Given the description of an element on the screen output the (x, y) to click on. 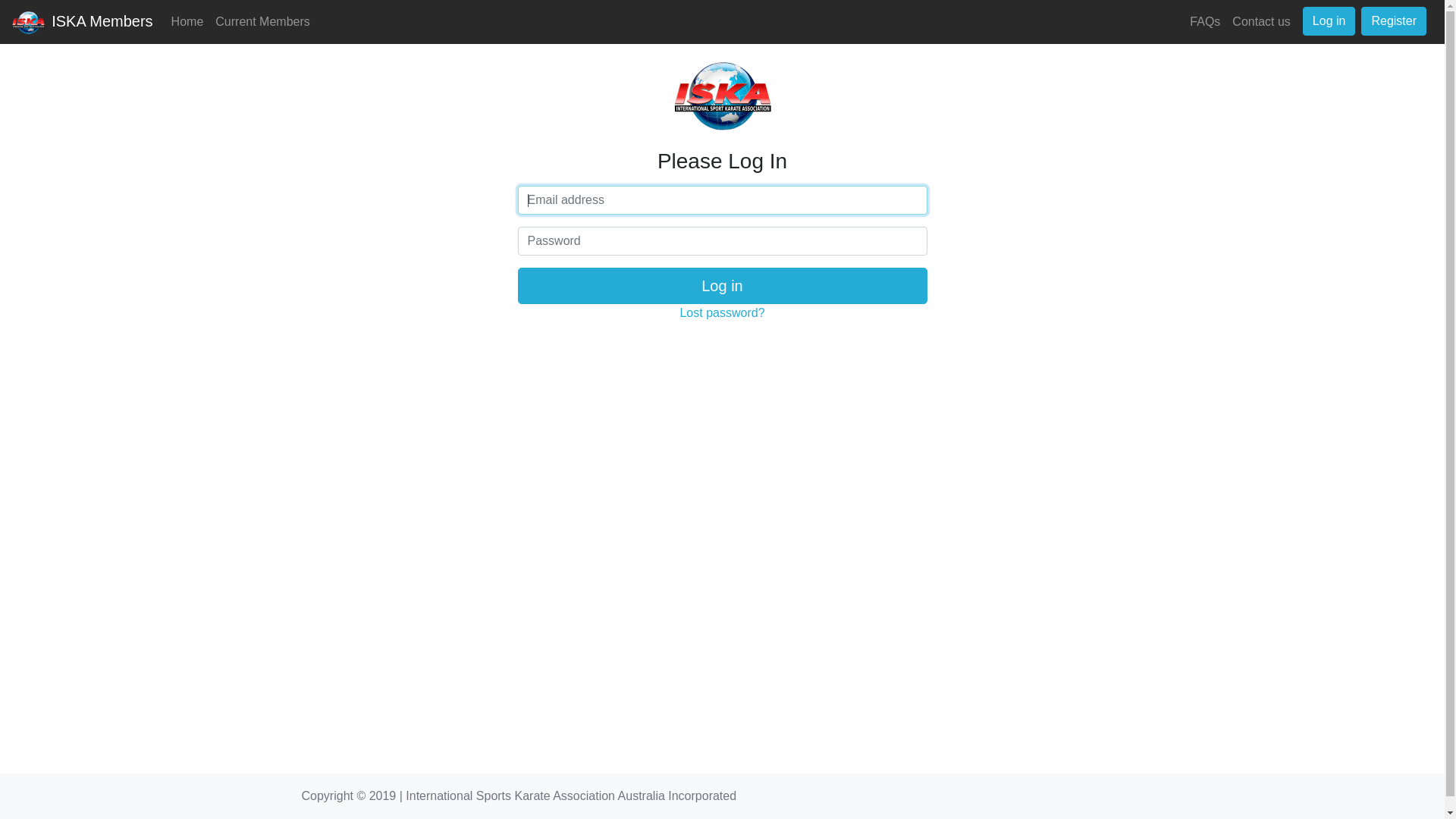
Log in Element type: text (721, 285)
Register Element type: text (1393, 20)
FAQs Element type: text (1204, 21)
ISKA Members Element type: text (82, 21)
Home Element type: text (187, 21)
Current Members Element type: text (262, 21)
Lost password? Element type: text (721, 312)
Contact us Element type: text (1260, 21)
Log in Element type: text (1328, 20)
